Given the description of an element on the screen output the (x, y) to click on. 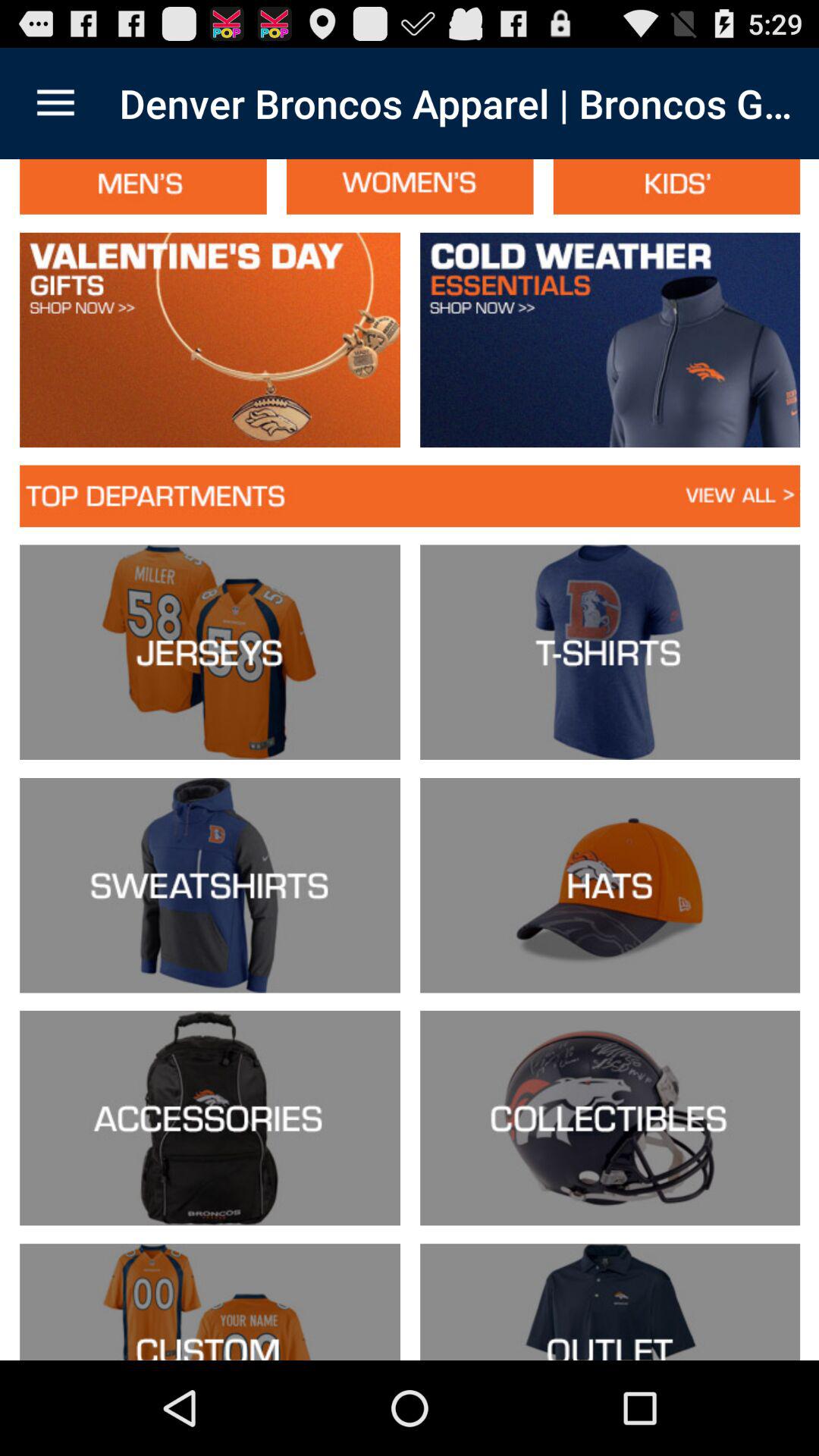
open item at the center (409, 759)
